Given the description of an element on the screen output the (x, y) to click on. 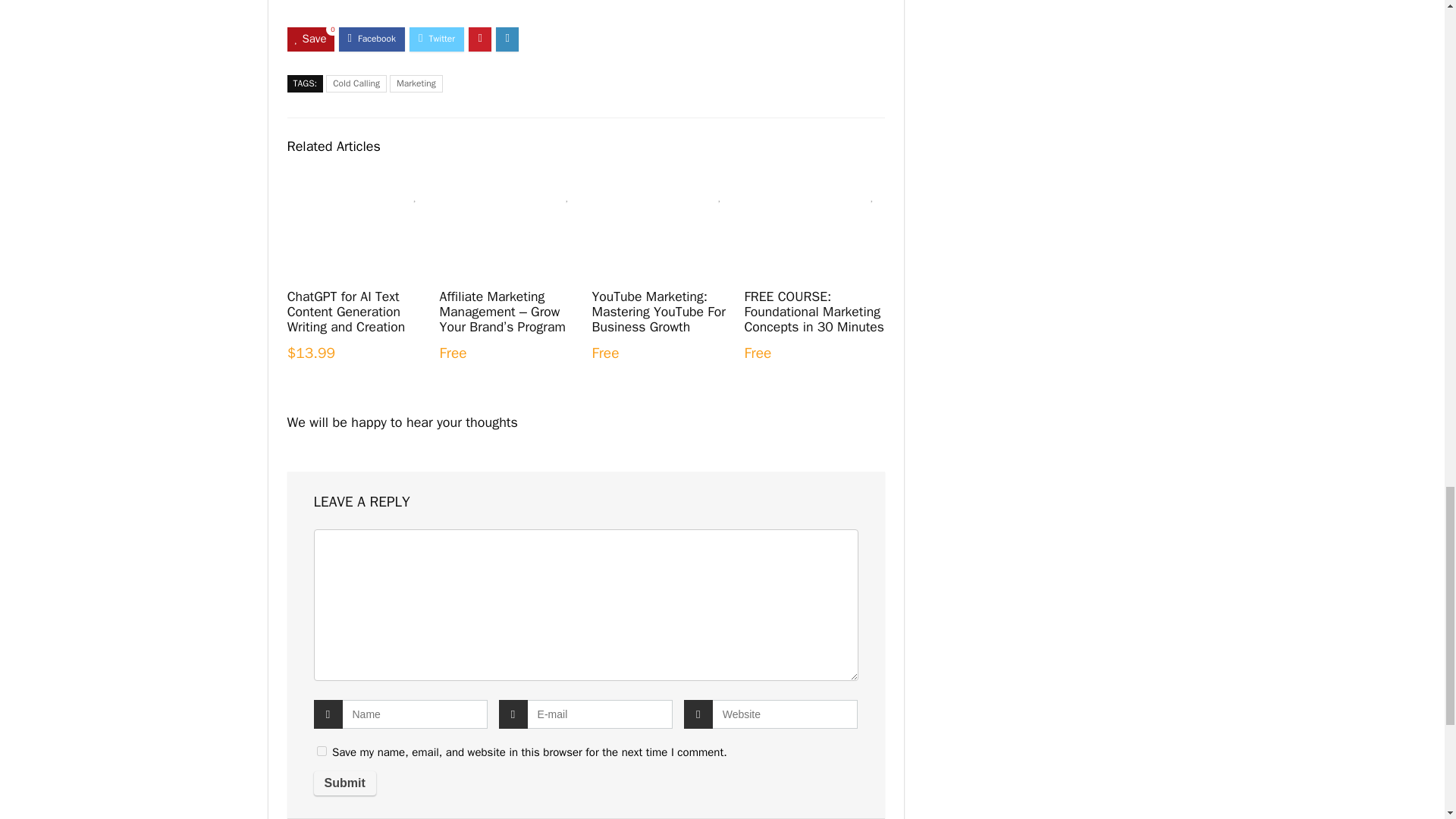
FREE COURSE: Foundational Marketing Concepts in 30 Minutes (813, 311)
Submit (344, 783)
ChatGPT for AI Text Content Generation Writing and Creation (346, 311)
YouTube Marketing: Mastering YouTube For Business Growth (658, 311)
Cold Calling (356, 83)
Submit (344, 783)
Marketing (416, 83)
yes (321, 750)
